Given the description of an element on the screen output the (x, y) to click on. 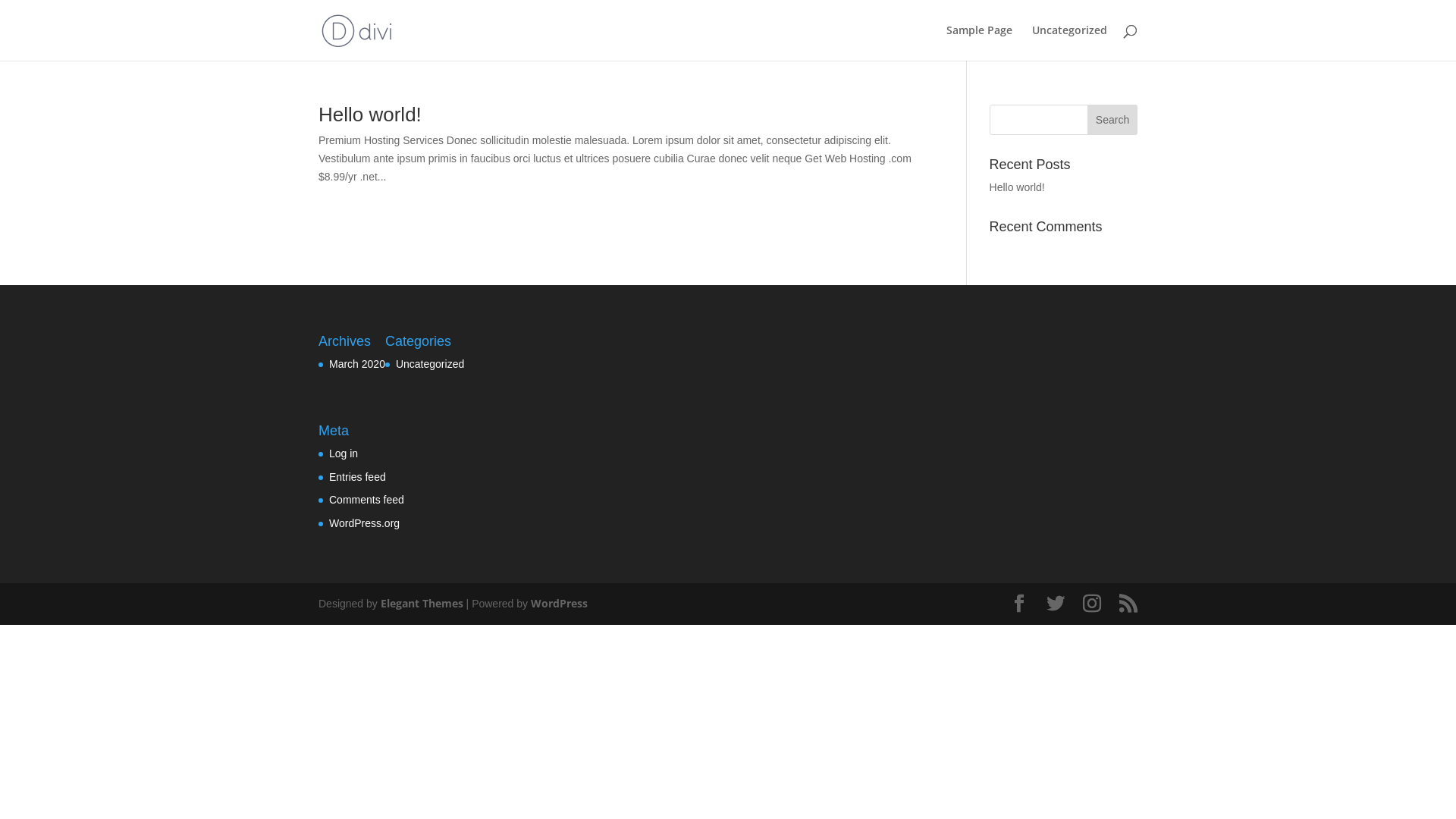
Sample Page Element type: text (979, 42)
Log in Element type: text (343, 453)
Entries feed Element type: text (357, 476)
March 2020 Element type: text (357, 363)
Uncategorized Element type: text (429, 363)
Hello world! Element type: text (1016, 187)
Elegant Themes Element type: text (421, 603)
Search Element type: text (1112, 119)
Comments feed Element type: text (366, 499)
Uncategorized Element type: text (1069, 42)
WordPress Element type: text (558, 603)
Hello world! Element type: text (369, 114)
WordPress.org Element type: text (364, 523)
